Given the description of an element on the screen output the (x, y) to click on. 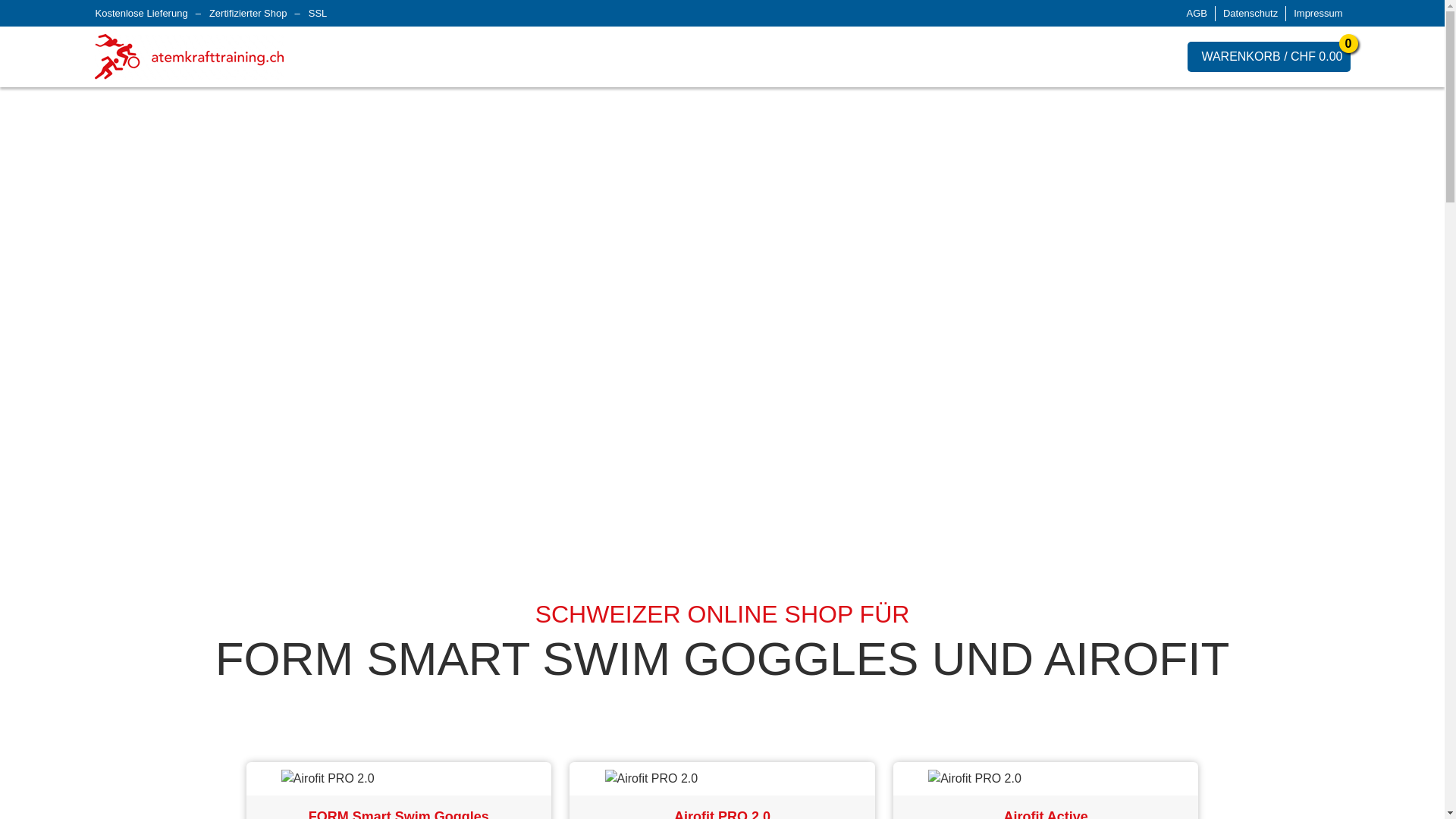
AGB Element type: text (1196, 13)
Impressum Element type: text (1317, 13)
Datenschutz Element type: text (1250, 13)
WARENKORB / CHF 0.00
0 Element type: text (1268, 56)
